Given the description of an element on the screen output the (x, y) to click on. 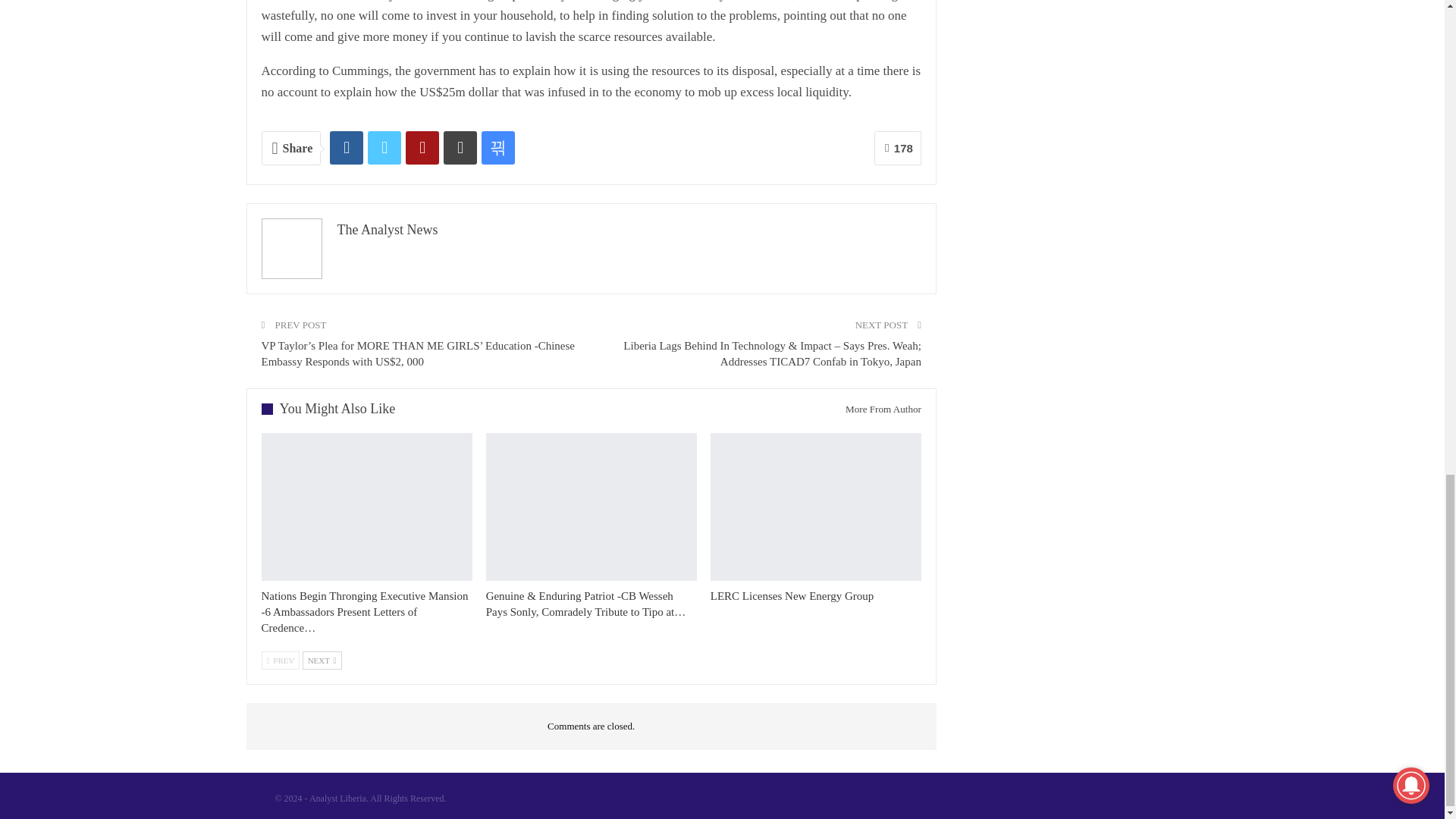
More From Author (876, 408)
LERC Licenses New Energy Group (815, 506)
The Analyst News (387, 229)
Next (322, 660)
Previous (279, 660)
LERC Licenses New Energy Group (792, 595)
You Might Also Like (333, 408)
